Given the description of an element on the screen output the (x, y) to click on. 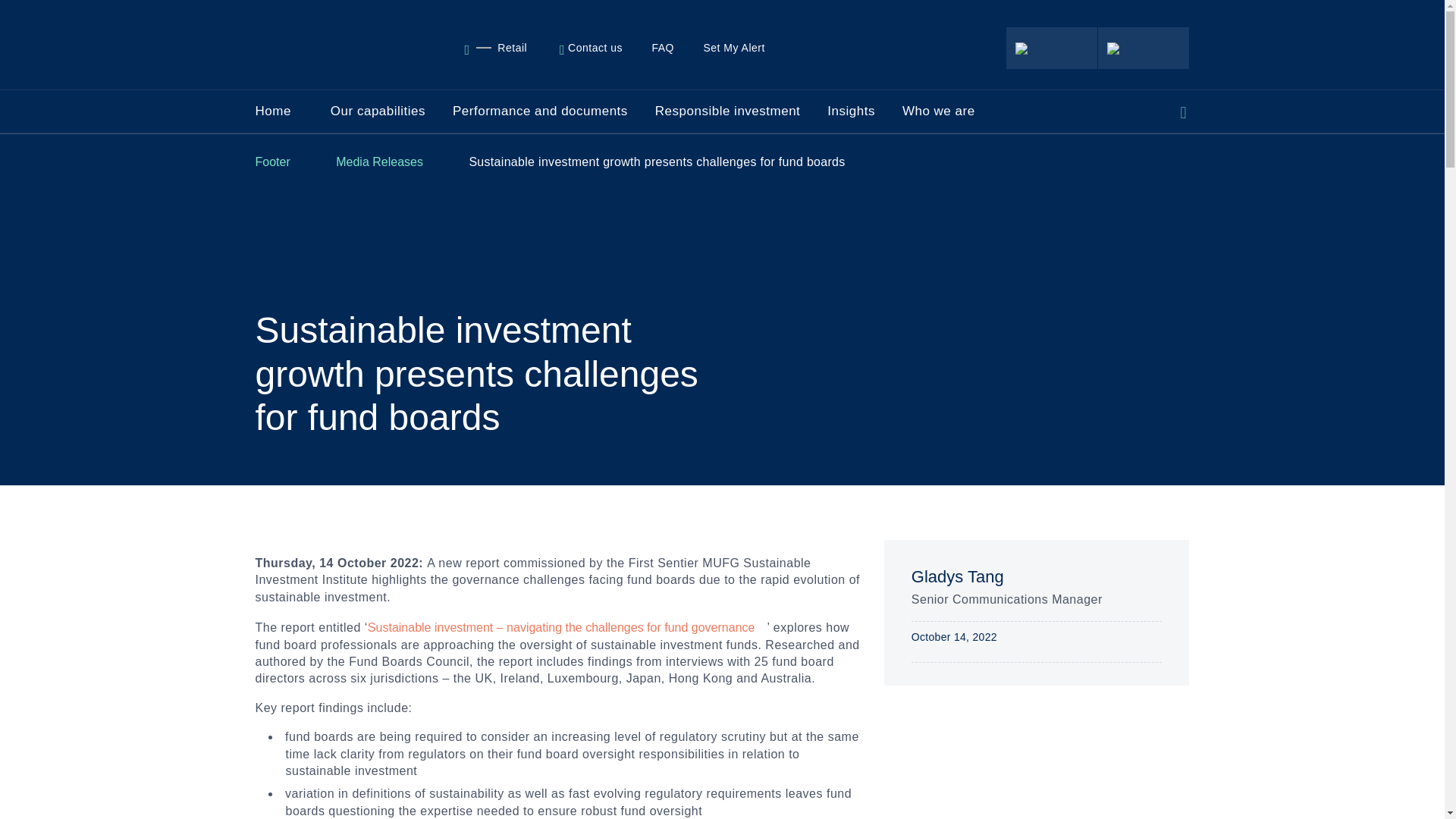
Home (502, 47)
FAQ (292, 111)
Contact us (667, 47)
Set My Alert (596, 47)
